Given the description of an element on the screen output the (x, y) to click on. 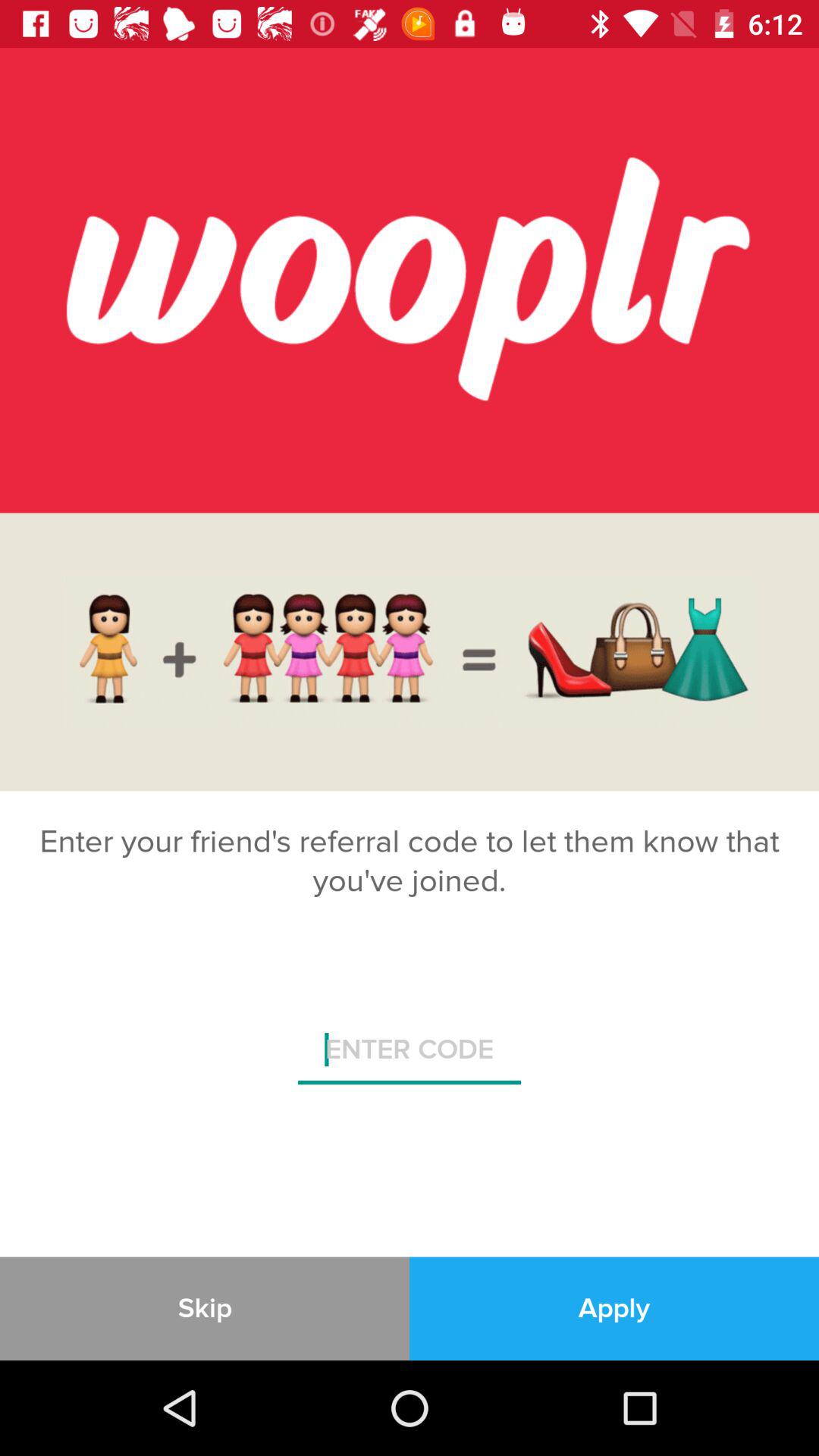
launch the item to the left of apply item (204, 1308)
